Given the description of an element on the screen output the (x, y) to click on. 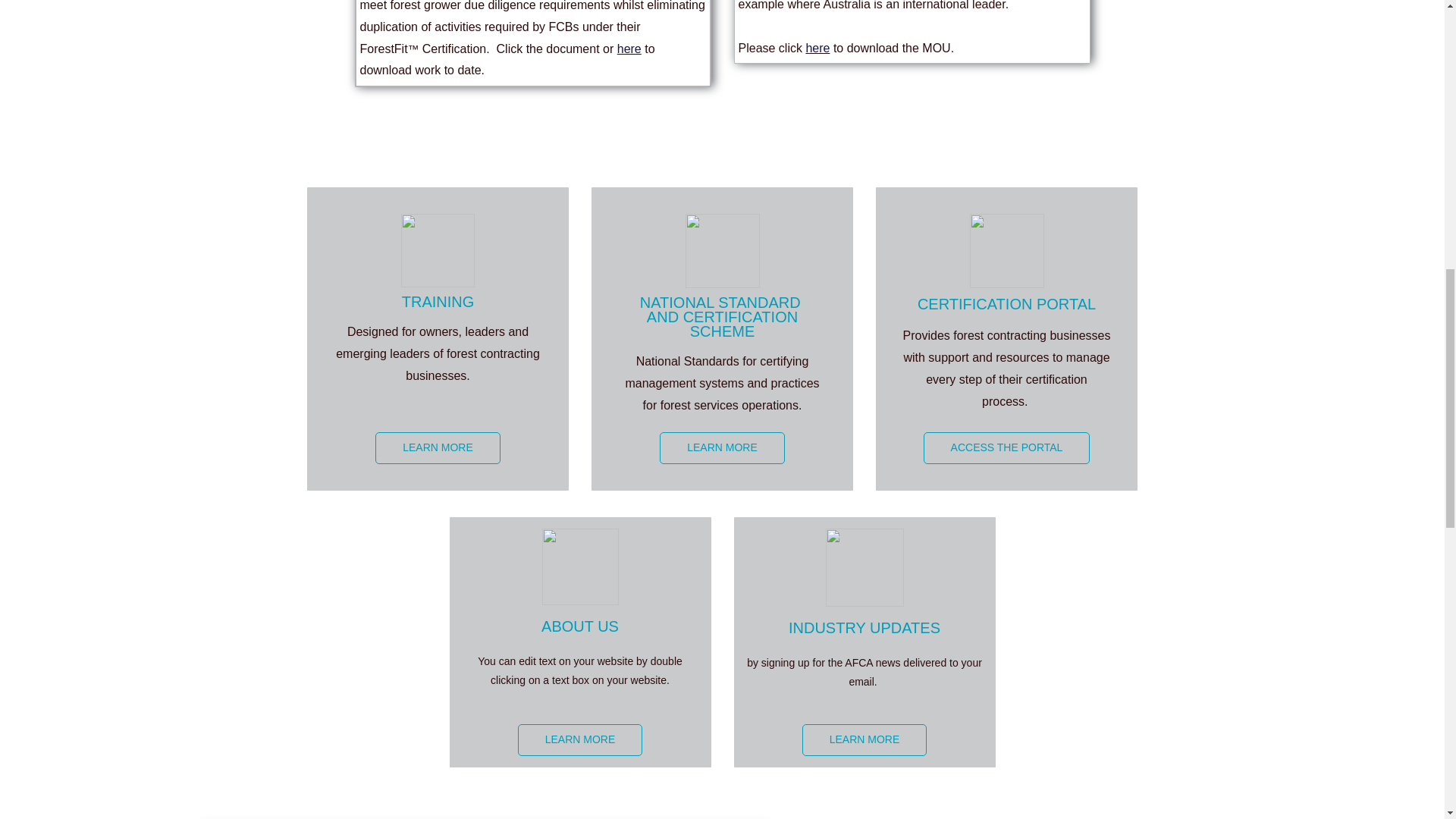
LEARN MORE (437, 448)
LEARN MORE (864, 739)
here (817, 47)
here (629, 48)
ACCESS THE PORTAL (1006, 448)
Read our news (864, 739)
LEARN MORE (721, 448)
Visit the ForestFit portal (1006, 448)
LEARN MORE (580, 739)
